Given the description of an element on the screen output the (x, y) to click on. 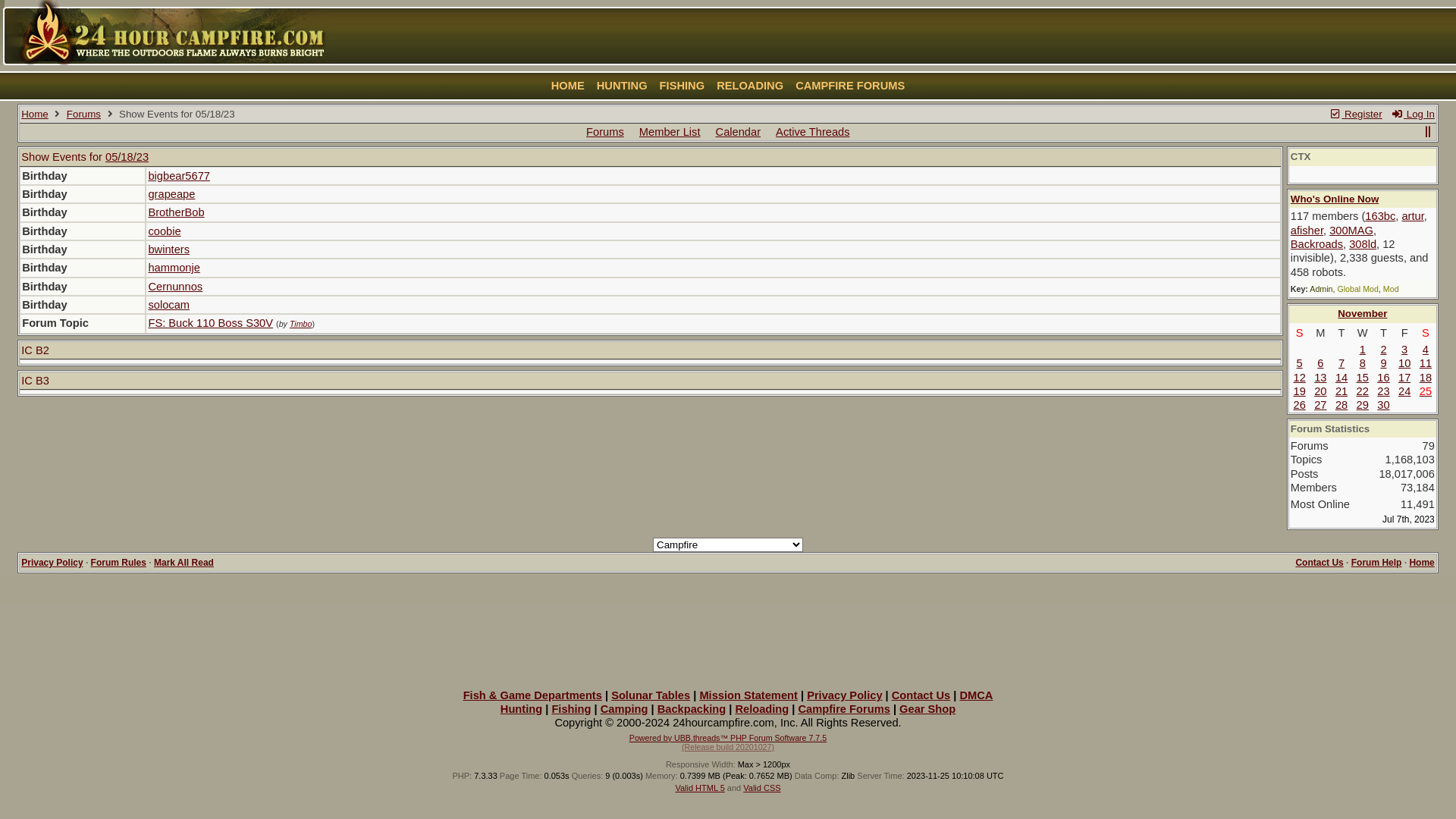
RELOADING Element type: text (749, 85)
7 Element type: text (1341, 363)
29 Element type: text (1362, 404)
22 Element type: text (1362, 391)
bwinters Element type: text (168, 249)
Camping Element type: text (624, 708)
Forums Element type: text (83, 113)
25 Element type: text (1425, 391)
BrotherBob Element type: text (175, 212)
CAMPFIRE FORUMS Element type: text (849, 85)
Calendar Element type: text (738, 131)
13 Element type: text (1320, 377)
Valid CSS Element type: text (761, 787)
Gear Shop Element type: text (927, 708)
10 Element type: text (1404, 363)
11 Element type: text (1425, 363)
Cernunnos Element type: text (174, 286)
Register Element type: text (1355, 113)
(Release build 20201027) Element type: text (727, 746)
Fishing Element type: text (570, 708)
coobie Element type: text (163, 231)
27 Element type: text (1320, 404)
Contact Us Element type: text (1319, 562)
3 Element type: text (1404, 349)
HUNTING Element type: text (622, 85)
Valid HTML 5 Element type: text (699, 787)
16 Element type: text (1383, 377)
6 Element type: text (1320, 363)
Backpacking Element type: text (691, 708)
17 Element type: text (1404, 377)
Forum Rules Element type: text (118, 562)
FS: Buck 110 Boss S30V Element type: text (210, 322)
5 Element type: text (1299, 363)
Forum Help Element type: text (1376, 562)
Backroads Element type: text (1316, 244)
24 Element type: text (1404, 391)
163bc Element type: text (1380, 216)
Home Element type: text (1421, 562)
4 Element type: text (1425, 349)
DMCA Element type: text (975, 695)
20 Element type: text (1320, 391)
Forums Element type: text (604, 131)
Privacy Policy Element type: text (51, 562)
300MAG Element type: text (1351, 230)
Privacy Policy Element type: text (843, 695)
15 Element type: text (1362, 377)
Hunting Element type: text (521, 708)
14 Element type: text (1341, 377)
28 Element type: text (1341, 404)
grapeape Element type: text (170, 194)
Active Threads Element type: text (812, 131)
HOME Element type: text (567, 85)
19 Element type: text (1298, 391)
12 Element type: text (1298, 377)
Who's Online Now Element type: text (1334, 198)
9 Element type: text (1383, 363)
05/18/23 Element type: text (126, 156)
18 Element type: text (1425, 377)
23 Element type: text (1383, 391)
Member List Element type: text (669, 131)
Reloading Element type: text (761, 708)
Solunar Tables Element type: text (650, 695)
artur Element type: text (1412, 216)
Home Element type: text (34, 113)
Mission Statement Element type: text (748, 695)
show/hide columns on this page Element type: hover (1426, 131)
Timbo Element type: text (300, 323)
solocam Element type: text (168, 304)
1 Element type: text (1362, 349)
hammonje Element type: text (173, 267)
Mark All Read Element type: text (183, 562)
November Element type: text (1361, 313)
Log In Element type: text (1412, 113)
30 Element type: text (1383, 404)
2 Element type: text (1383, 349)
308ld Element type: text (1362, 244)
afisher Element type: text (1306, 230)
FISHING Element type: text (682, 85)
21 Element type: text (1341, 391)
Fish & Game Departments Element type: text (532, 695)
bigbear5677 Element type: text (178, 175)
26 Element type: text (1298, 404)
8 Element type: text (1362, 363)
Contact Us Element type: text (920, 695)
Campfire Forums Element type: text (843, 708)
